Given the description of an element on the screen output the (x, y) to click on. 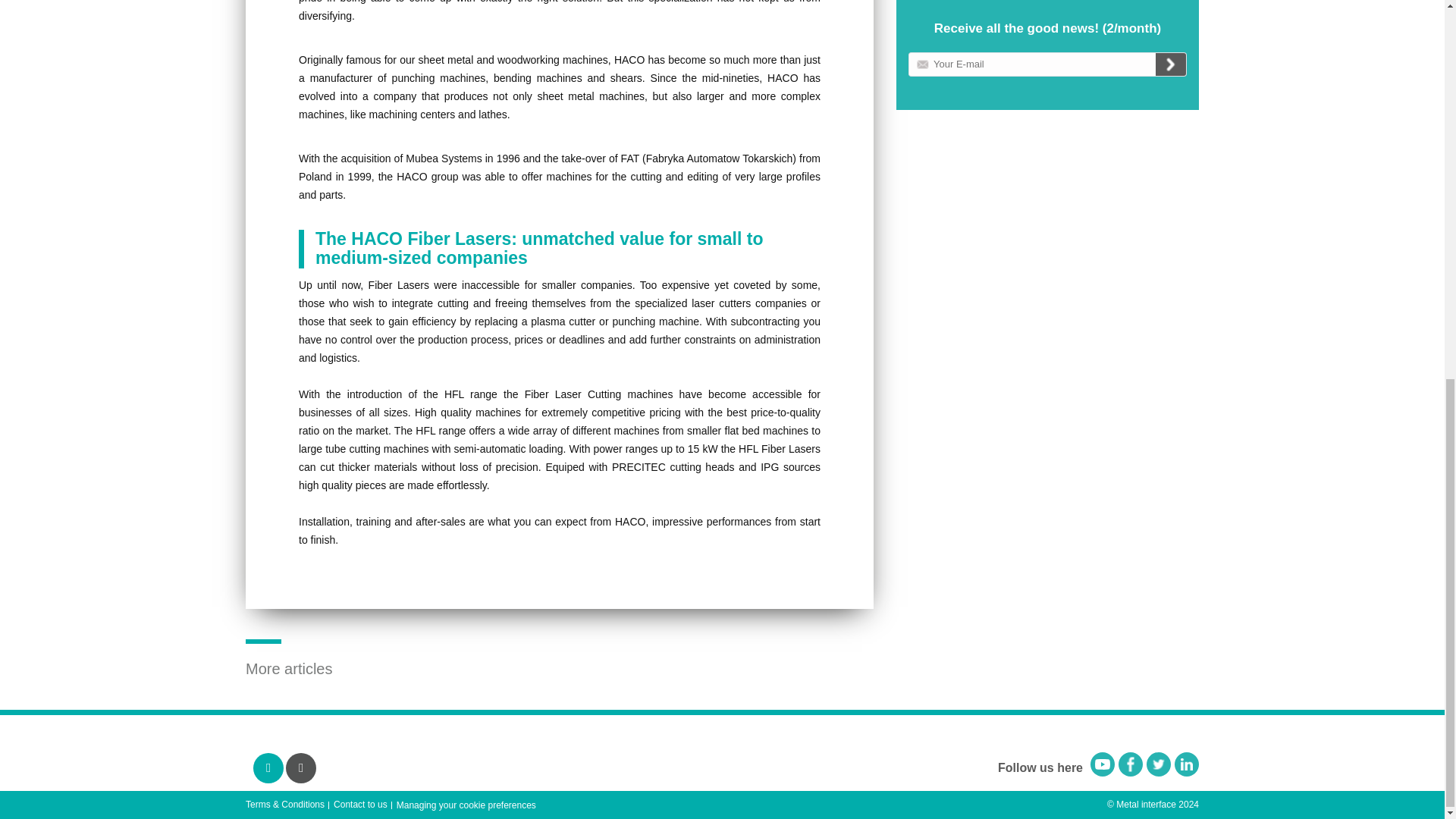
OK (1171, 64)
